Given the description of an element on the screen output the (x, y) to click on. 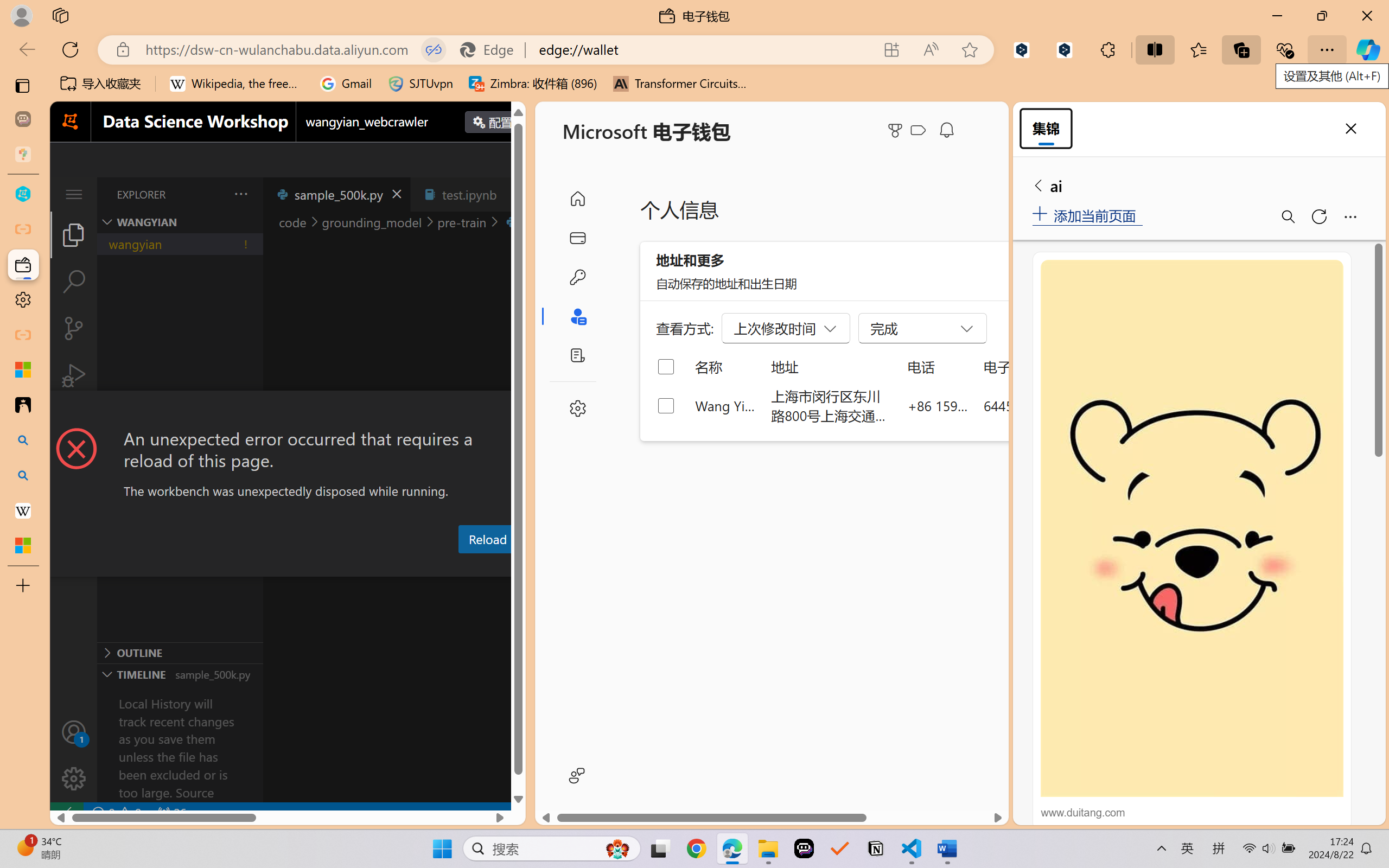
test.ipynb (468, 194)
Copilot (Ctrl+Shift+.) (1368, 49)
No Problems (115, 812)
Views and More Actions... (240, 193)
Microsoft Rewards (896, 129)
+86 159 0032 4640 (938, 405)
Timeline Section (179, 673)
Explorer actions (212, 194)
Gmail (345, 83)
